Given the description of an element on the screen output the (x, y) to click on. 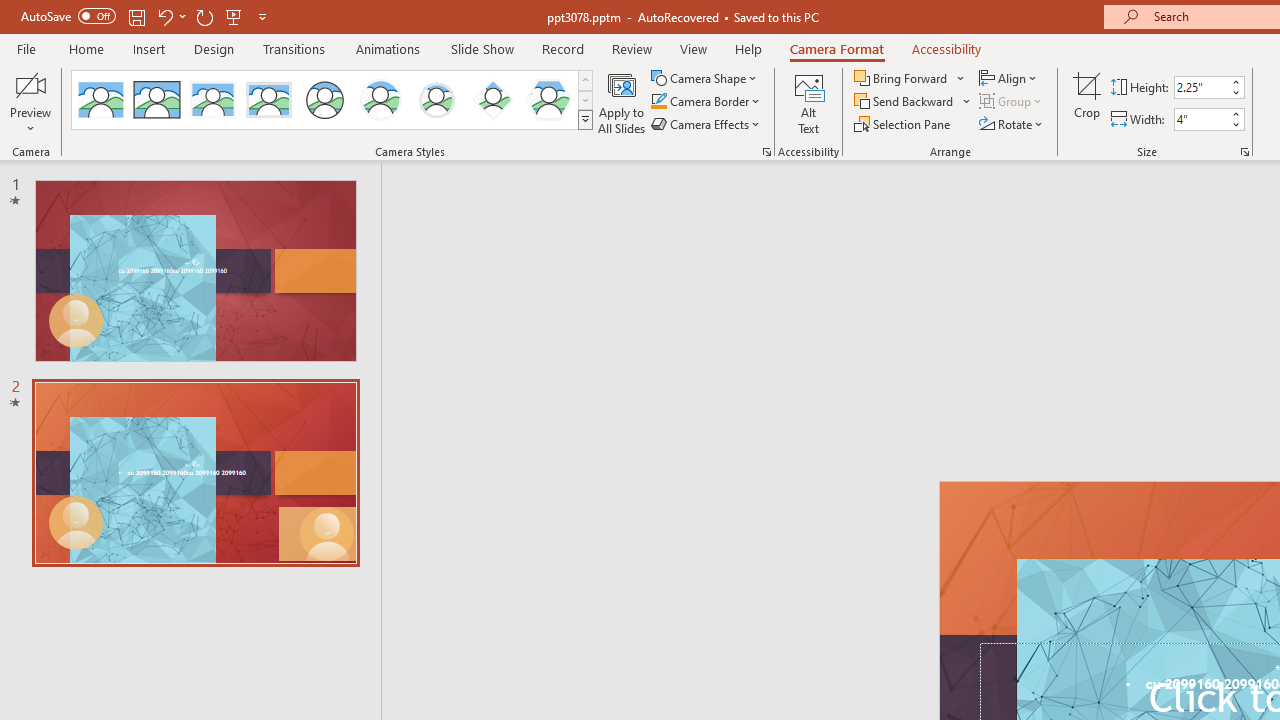
Center Shadow Rectangle (212, 100)
Soft Edge Rectangle (268, 100)
Center Shadow Circle (381, 100)
Camera Border (706, 101)
Crop (1087, 102)
